Given the description of an element on the screen output the (x, y) to click on. 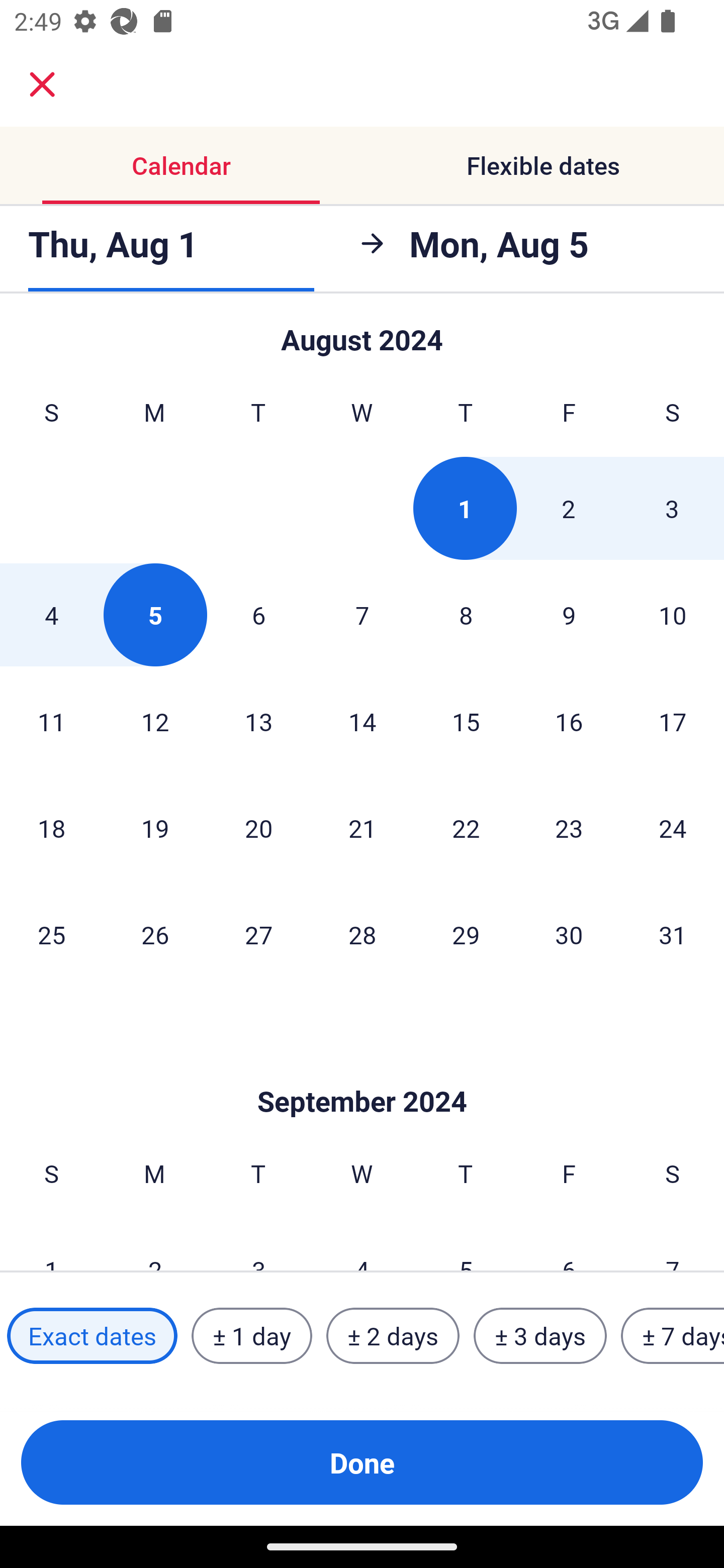
close. (42, 84)
Flexible dates (542, 164)
6 Tuesday, August 6, 2024 (258, 614)
7 Wednesday, August 7, 2024 (362, 614)
8 Thursday, August 8, 2024 (465, 614)
9 Friday, August 9, 2024 (569, 614)
10 Saturday, August 10, 2024 (672, 614)
11 Sunday, August 11, 2024 (51, 721)
12 Monday, August 12, 2024 (155, 721)
13 Tuesday, August 13, 2024 (258, 721)
14 Wednesday, August 14, 2024 (362, 721)
15 Thursday, August 15, 2024 (465, 721)
16 Friday, August 16, 2024 (569, 721)
17 Saturday, August 17, 2024 (672, 721)
18 Sunday, August 18, 2024 (51, 827)
19 Monday, August 19, 2024 (155, 827)
20 Tuesday, August 20, 2024 (258, 827)
21 Wednesday, August 21, 2024 (362, 827)
22 Thursday, August 22, 2024 (465, 827)
23 Friday, August 23, 2024 (569, 827)
24 Saturday, August 24, 2024 (672, 827)
25 Sunday, August 25, 2024 (51, 934)
26 Monday, August 26, 2024 (155, 934)
27 Tuesday, August 27, 2024 (258, 934)
28 Wednesday, August 28, 2024 (362, 934)
29 Thursday, August 29, 2024 (465, 934)
30 Friday, August 30, 2024 (569, 934)
31 Saturday, August 31, 2024 (672, 934)
Skip to Done (362, 1070)
Exact dates (92, 1335)
± 1 day (251, 1335)
± 2 days (392, 1335)
± 3 days (539, 1335)
± 7 days (672, 1335)
Done (361, 1462)
